Given the description of an element on the screen output the (x, y) to click on. 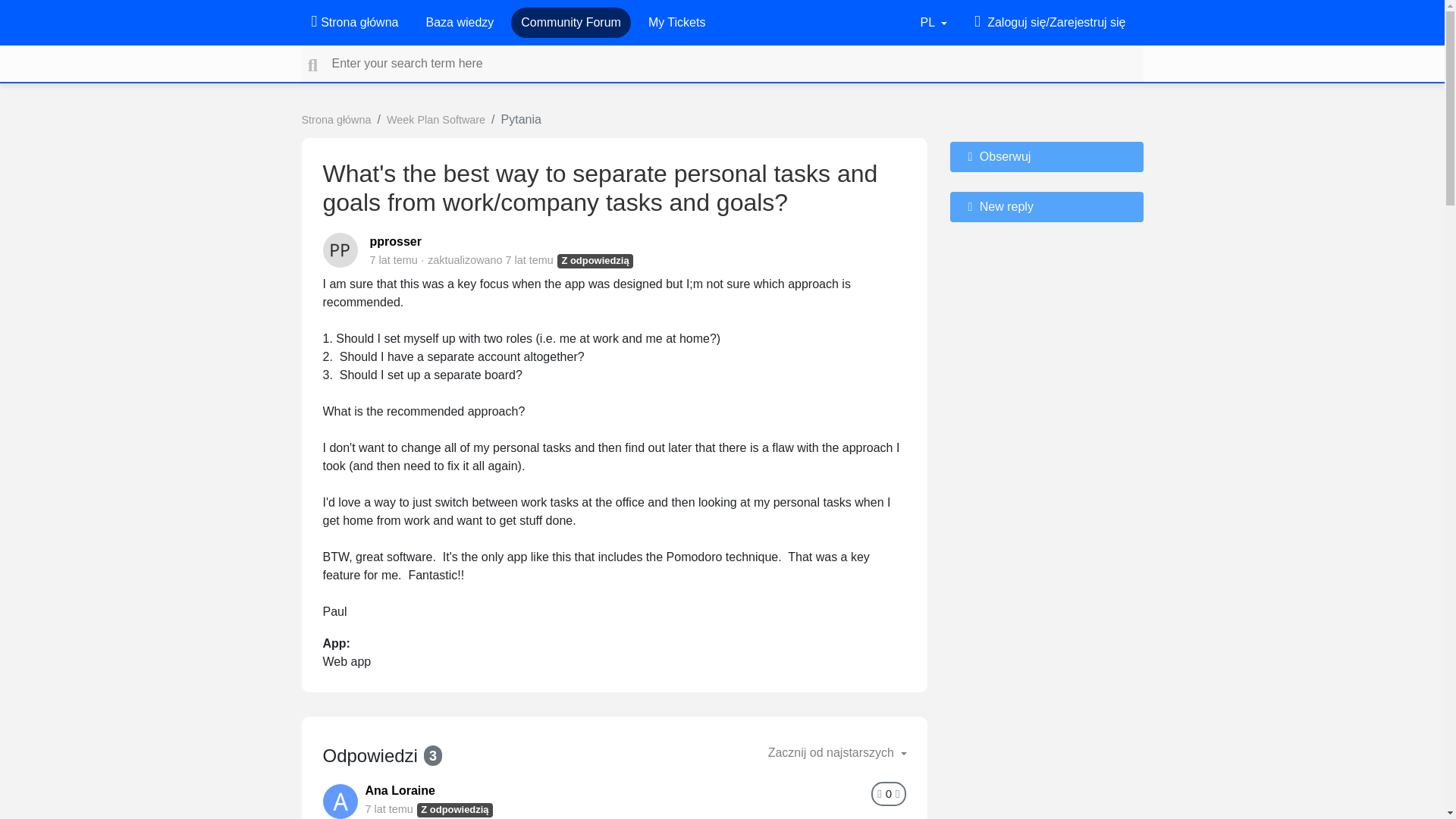
Ana Loraine (400, 789)
PL (933, 22)
14 grudnia 2017 10:09 (529, 259)
pprosser (395, 241)
12 grudnia 2017 10:31 (389, 808)
My Tickets (676, 22)
New reply (1045, 206)
Community Forum (571, 22)
Obserwuj (1045, 156)
Zacznij od najstarszych (837, 752)
Baza wiedzy (459, 22)
11 grudnia 2017 15:50 (393, 259)
Week Plan Software (435, 119)
